Given the description of an element on the screen output the (x, y) to click on. 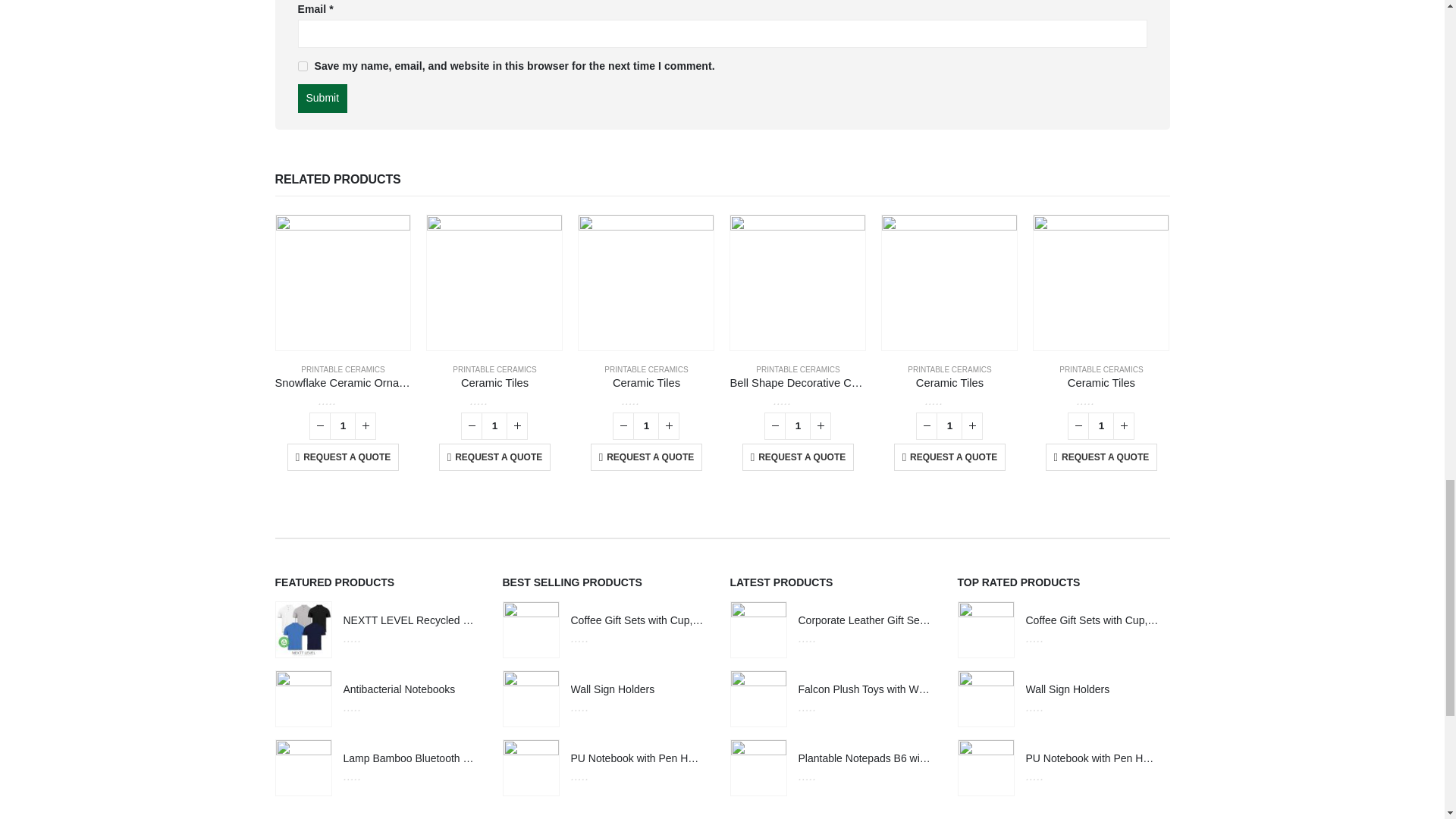
1 (949, 425)
0 (646, 400)
1 (797, 425)
0 (342, 400)
0 (493, 400)
Submit (322, 98)
1 (342, 425)
1 (493, 425)
1 (646, 425)
yes (302, 66)
